Given the description of an element on the screen output the (x, y) to click on. 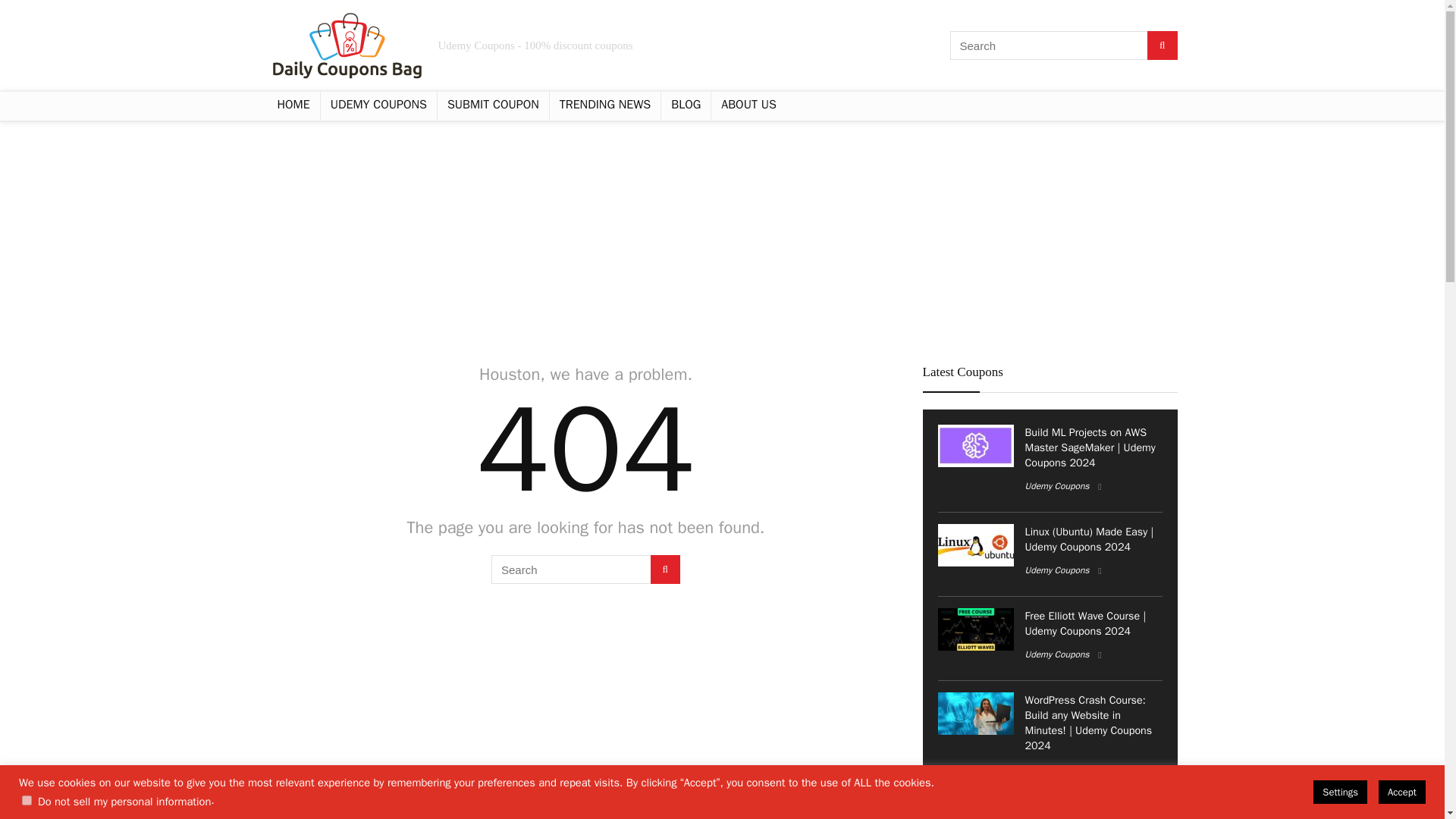
BLOG (685, 105)
HOME (292, 105)
UDEMY COUPONS (378, 105)
ABOUT US (748, 105)
on (26, 800)
Udemy Coupons (1057, 485)
TRENDING NEWS (605, 105)
SUBMIT COUPON (493, 105)
Udemy Coupons (1057, 768)
